Given the description of an element on the screen output the (x, y) to click on. 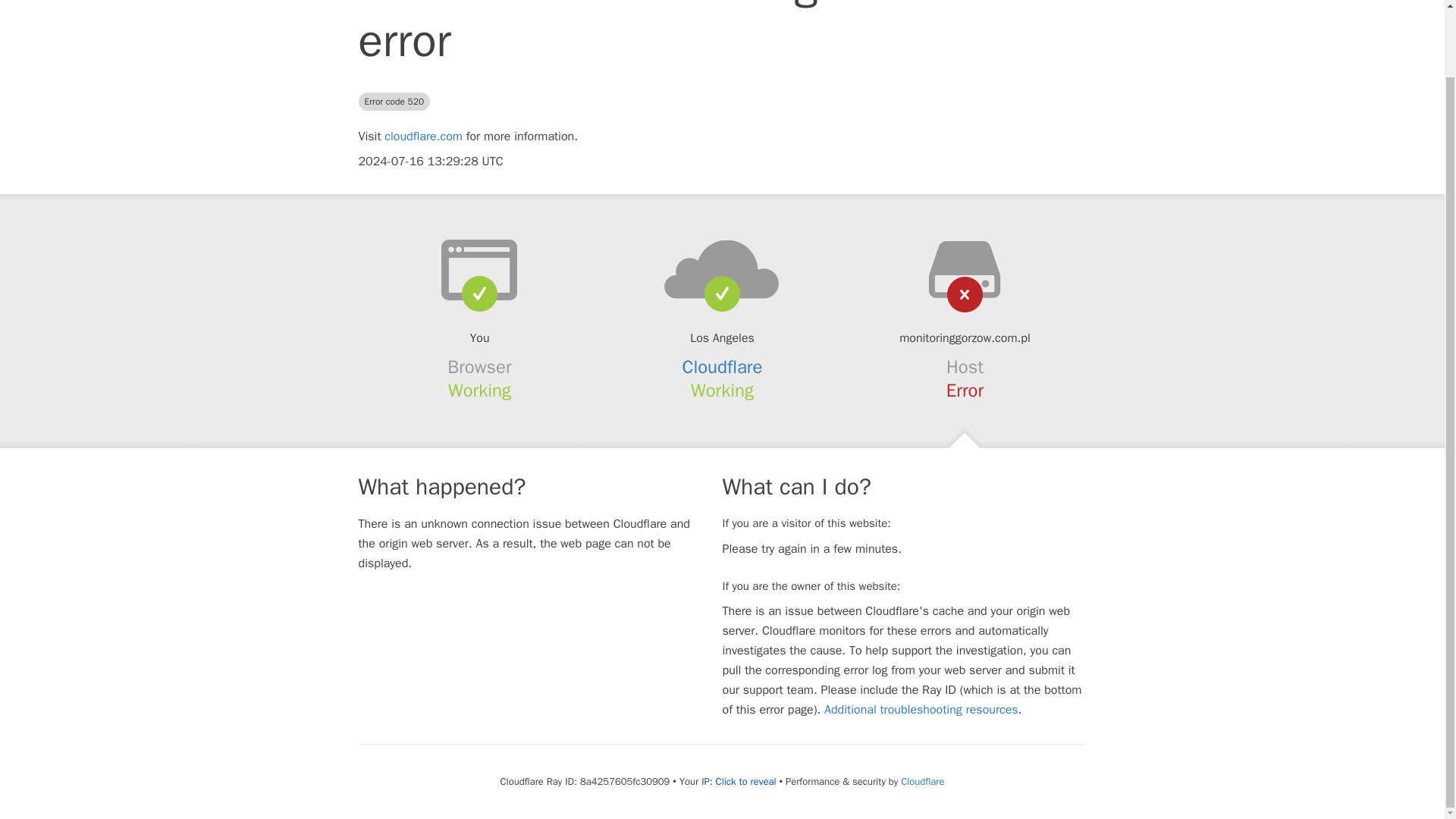
Cloudflare (922, 780)
cloudflare.com (423, 136)
Cloudflare (722, 366)
Click to reveal (746, 781)
Additional troubleshooting resources (920, 709)
